Given the description of an element on the screen output the (x, y) to click on. 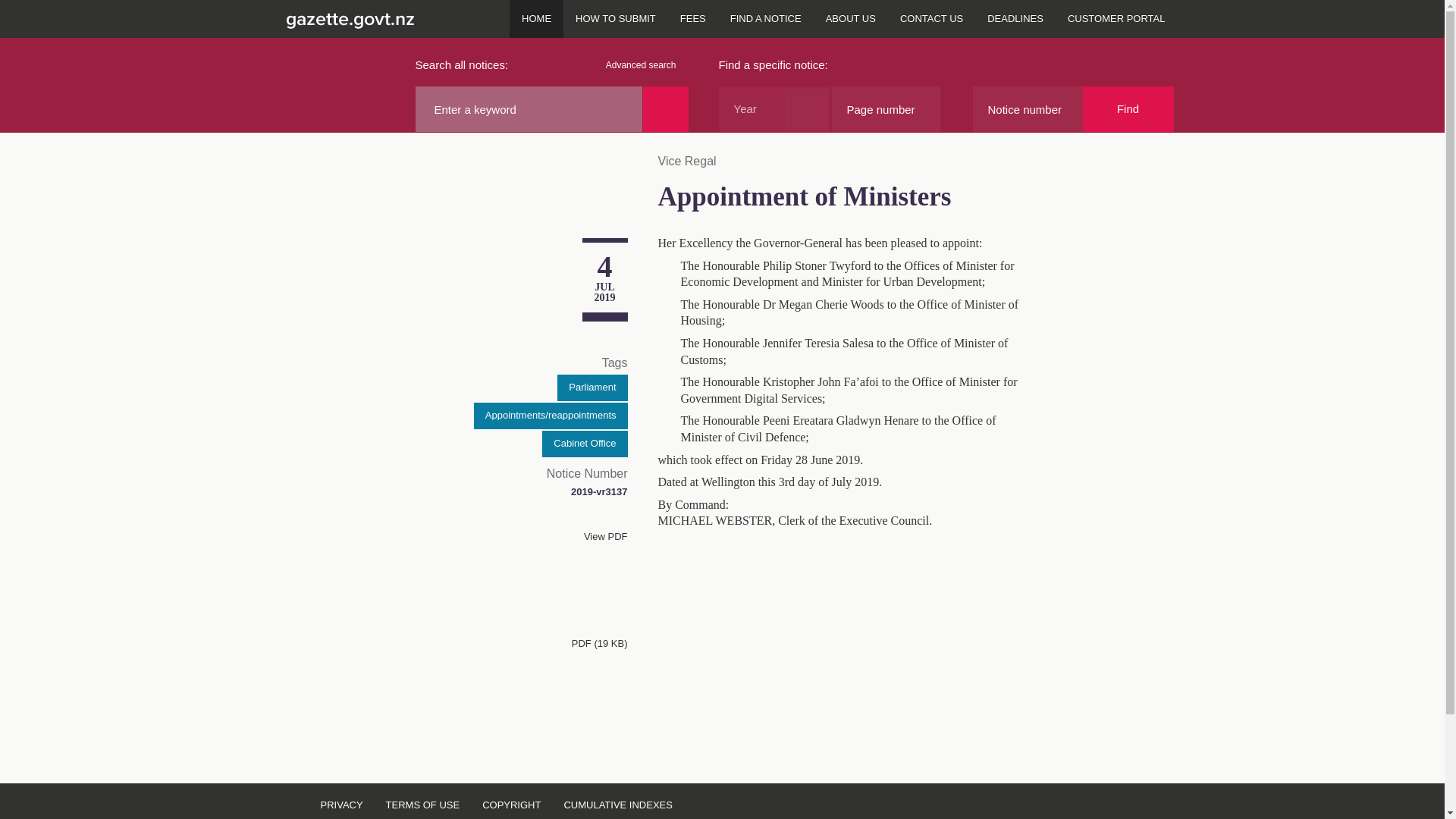
HOME (536, 18)
Advanced search (646, 65)
Gazette.govt.nz (347, 18)
CUSTOMER PORTAL (1116, 18)
CUMULATIVE INDEXES (617, 800)
Find (1128, 108)
Find (1128, 108)
DEADLINES (1015, 18)
ABOUT US (850, 18)
COPYRIGHT (510, 800)
